Given the description of an element on the screen output the (x, y) to click on. 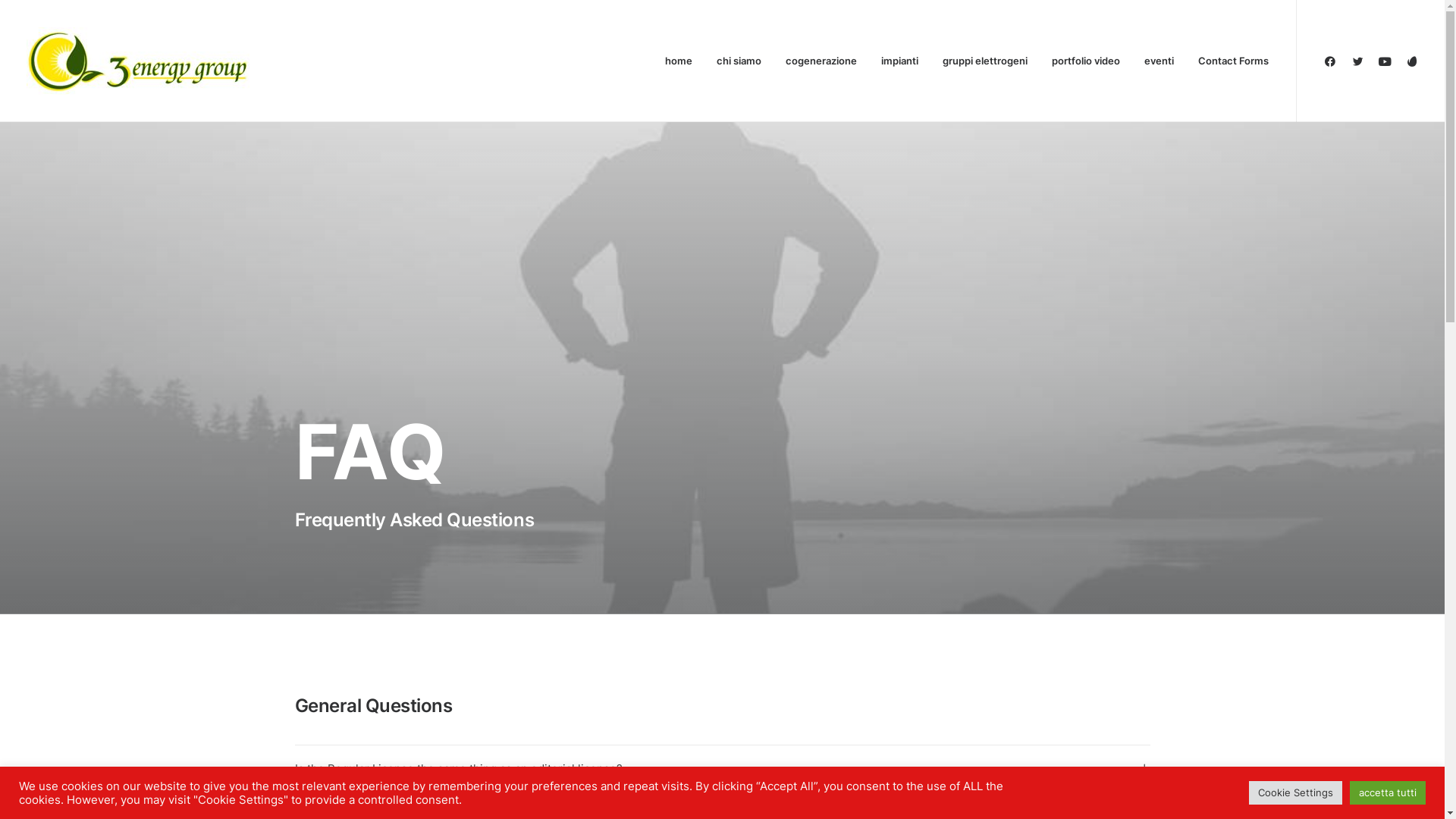
eventi Element type: text (1157, 61)
portfolio video Element type: text (1084, 61)
chi siamo Element type: text (738, 61)
Cookie Settings Element type: text (1295, 792)
gruppi elettrogeni Element type: text (984, 61)
Contact Forms Element type: text (1227, 61)
impianti Element type: text (899, 61)
home Element type: text (677, 61)
accetta tutti Element type: text (1387, 792)
cogenerazione Element type: text (821, 61)
